Given the description of an element on the screen output the (x, y) to click on. 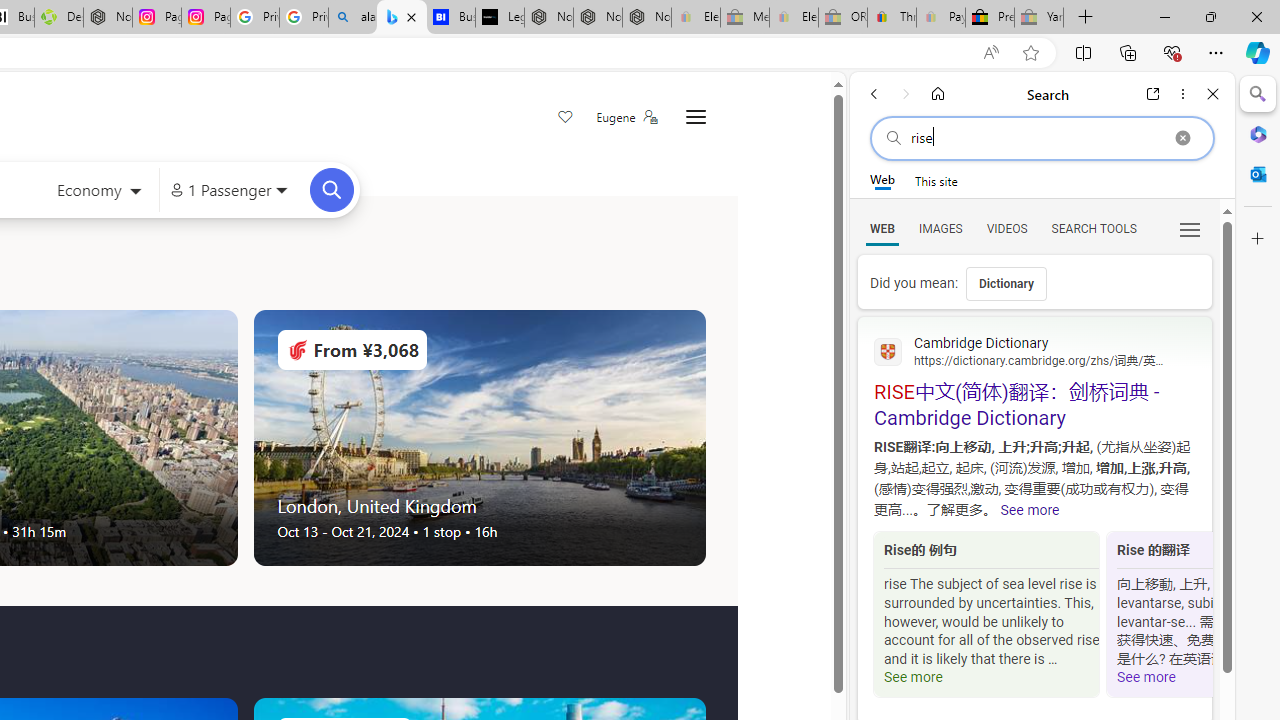
Cambridge Dictionary (1034, 349)
